Given the description of an element on the screen output the (x, y) to click on. 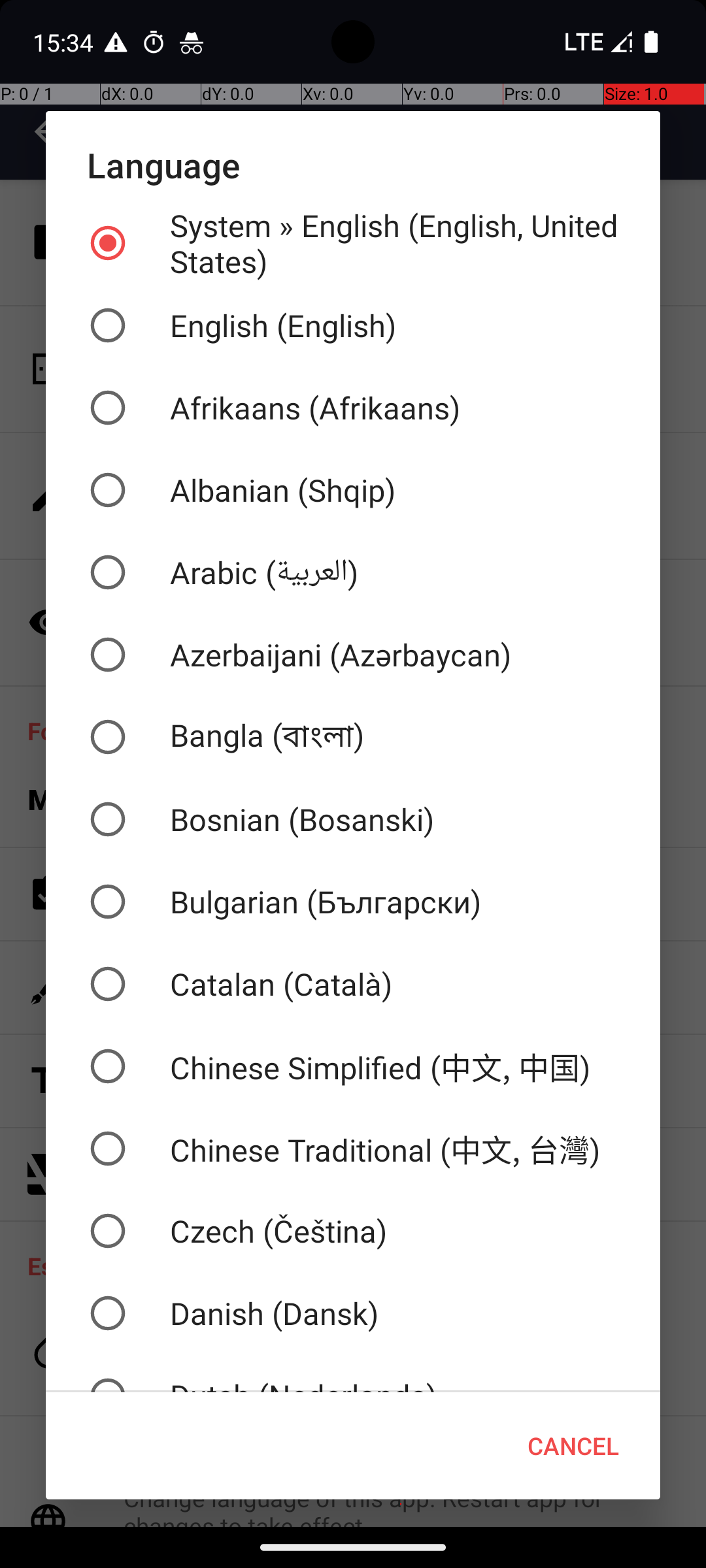
Language Element type: android.widget.TextView (352, 164)
System » English (English, United States) Element type: android.widget.CheckedTextView (352, 242)
English (English) Element type: android.widget.CheckedTextView (352, 325)
Afrikaans (Afrikaans) Element type: android.widget.CheckedTextView (352, 407)
Albanian (Shqip) Element type: android.widget.CheckedTextView (352, 489)
Arabic (العربية) Element type: android.widget.CheckedTextView (352, 572)
Azerbaijani (Azərbaycan) Element type: android.widget.CheckedTextView (352, 654)
Bangla (বাংলা) Element type: android.widget.CheckedTextView (352, 736)
Bosnian (Bosanski) Element type: android.widget.CheckedTextView (352, 819)
Bulgarian (Български) Element type: android.widget.CheckedTextView (352, 901)
Catalan (Català) Element type: android.widget.CheckedTextView (352, 983)
Chinese Simplified (中文, 中国) Element type: android.widget.CheckedTextView (352, 1066)
Chinese Traditional (中文, 台灣) Element type: android.widget.CheckedTextView (352, 1148)
Czech (Čeština) Element type: android.widget.CheckedTextView (352, 1230)
Danish (Dansk) Element type: android.widget.CheckedTextView (352, 1313)
Dutch (Nederlands) Element type: android.widget.CheckedTextView (352, 1373)
